Given the description of an element on the screen output the (x, y) to click on. 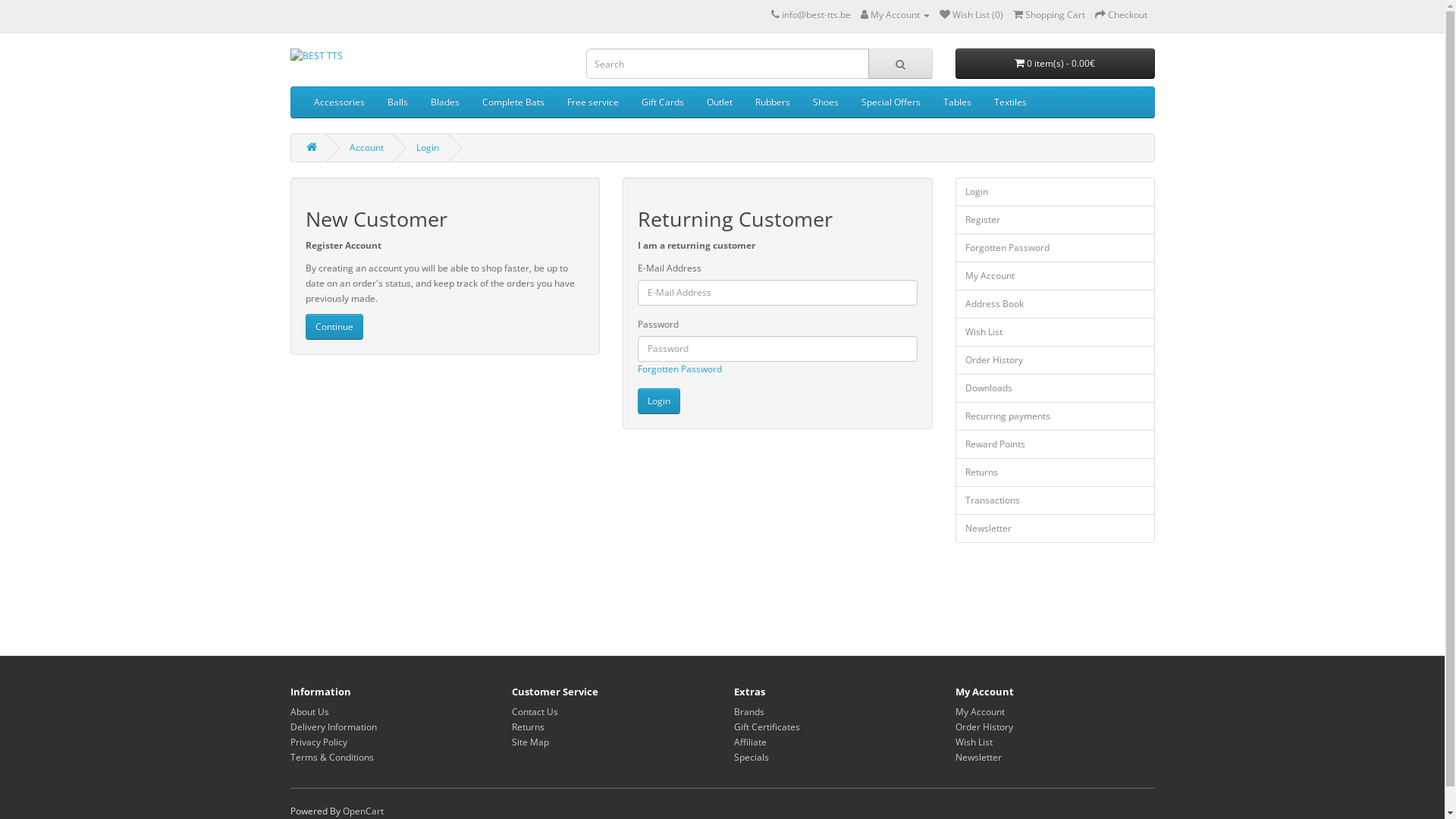
Newsletter Element type: text (978, 756)
Returns Element type: text (527, 726)
Gift Certificates Element type: text (767, 726)
Outlet Element type: text (718, 102)
Reward Points Element type: text (1054, 443)
Register Element type: text (1054, 219)
BEST TTS Element type: hover (425, 55)
Balls Element type: text (397, 102)
Affiliate Element type: text (750, 741)
Continue Element type: text (333, 326)
Wish List (0) Element type: text (970, 14)
Site Map Element type: text (530, 741)
Account Element type: text (365, 147)
Wish List Element type: text (1054, 331)
Returns Element type: text (1054, 472)
Address Book Element type: text (1054, 303)
Recurring payments Element type: text (1054, 415)
Special Offers Element type: text (890, 102)
Forgotten Password Element type: text (1054, 247)
Forgotten Password Element type: text (679, 368)
Contact Us Element type: text (534, 711)
Rubbers Element type: text (771, 102)
Textiles Element type: text (1010, 102)
My Account Element type: text (893, 14)
OpenCart Element type: text (362, 810)
My Account Element type: text (979, 711)
Order History Element type: text (984, 726)
Free service Element type: text (592, 102)
Complete Bats Element type: text (512, 102)
Terms & Conditions Element type: text (331, 756)
Login Element type: text (1054, 191)
Specials Element type: text (751, 756)
Brands Element type: text (749, 711)
Shoes Element type: text (824, 102)
My Account Element type: text (1054, 275)
Order History Element type: text (1054, 359)
Delivery Information Element type: text (332, 726)
Blades Element type: text (444, 102)
Shopping Cart Element type: text (1049, 14)
Login Element type: text (426, 147)
About Us Element type: text (308, 711)
Login Element type: text (658, 401)
Gift Cards Element type: text (661, 102)
Tables Element type: text (956, 102)
Checkout Element type: text (1121, 14)
Privacy Policy Element type: text (317, 741)
Accessories Element type: text (338, 102)
Wish List Element type: text (973, 741)
Newsletter Element type: text (1054, 528)
Transactions Element type: text (1054, 500)
Downloads Element type: text (1054, 387)
